Given the description of an element on the screen output the (x, y) to click on. 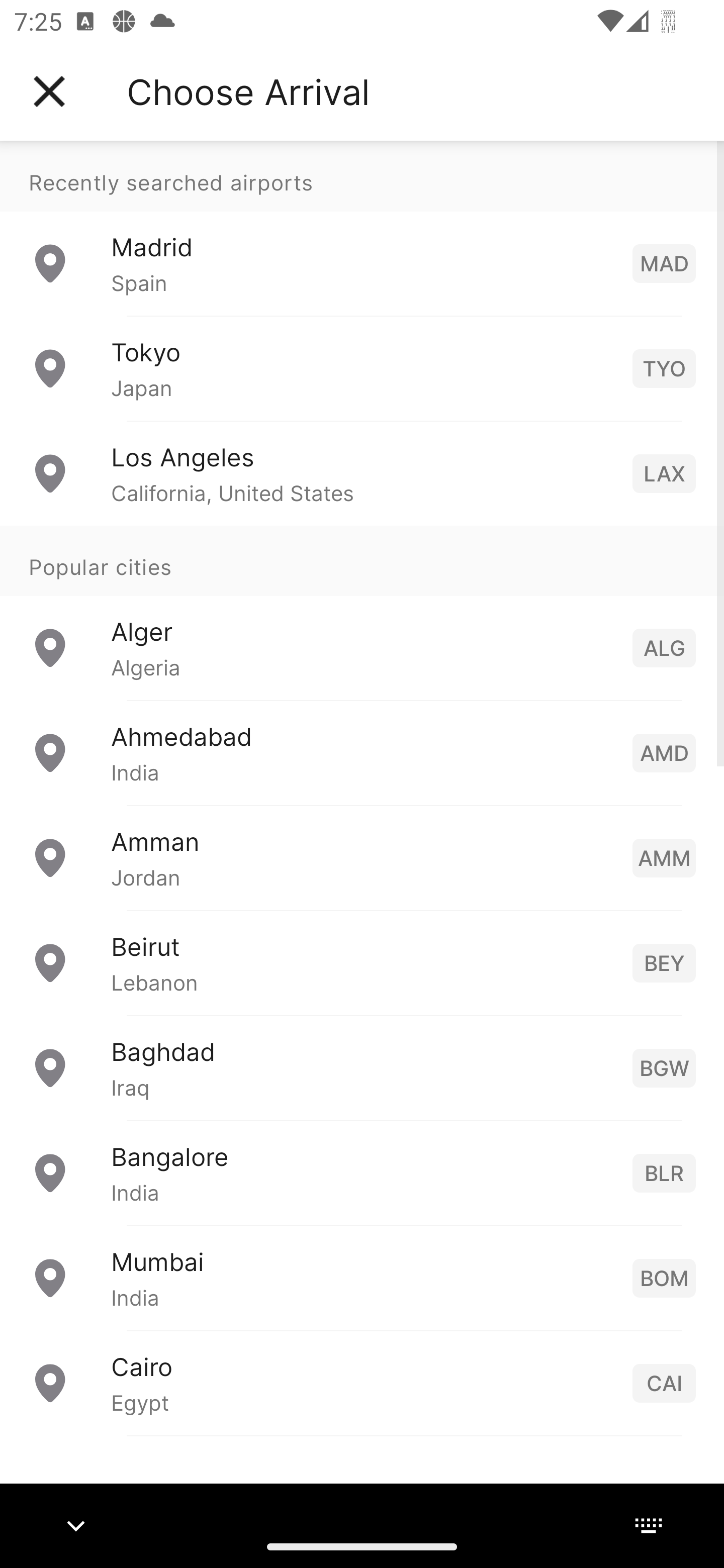
Choose Arrival (247, 91)
Recently searched airports Madrid Spain MAD (362, 228)
Recently searched airports (362, 176)
Tokyo Japan TYO (362, 367)
Los Angeles California, United States LAX (362, 472)
Popular cities Alger Algeria ALG (362, 612)
Popular cities (362, 560)
Ahmedabad India AMD (362, 751)
Amman Jordan AMM (362, 856)
Beirut Lebanon BEY (362, 961)
Baghdad Iraq BGW (362, 1066)
Bangalore India BLR (362, 1171)
Mumbai India BOM (362, 1276)
Cairo Egypt CAI (362, 1381)
